Given the description of an element on the screen output the (x, y) to click on. 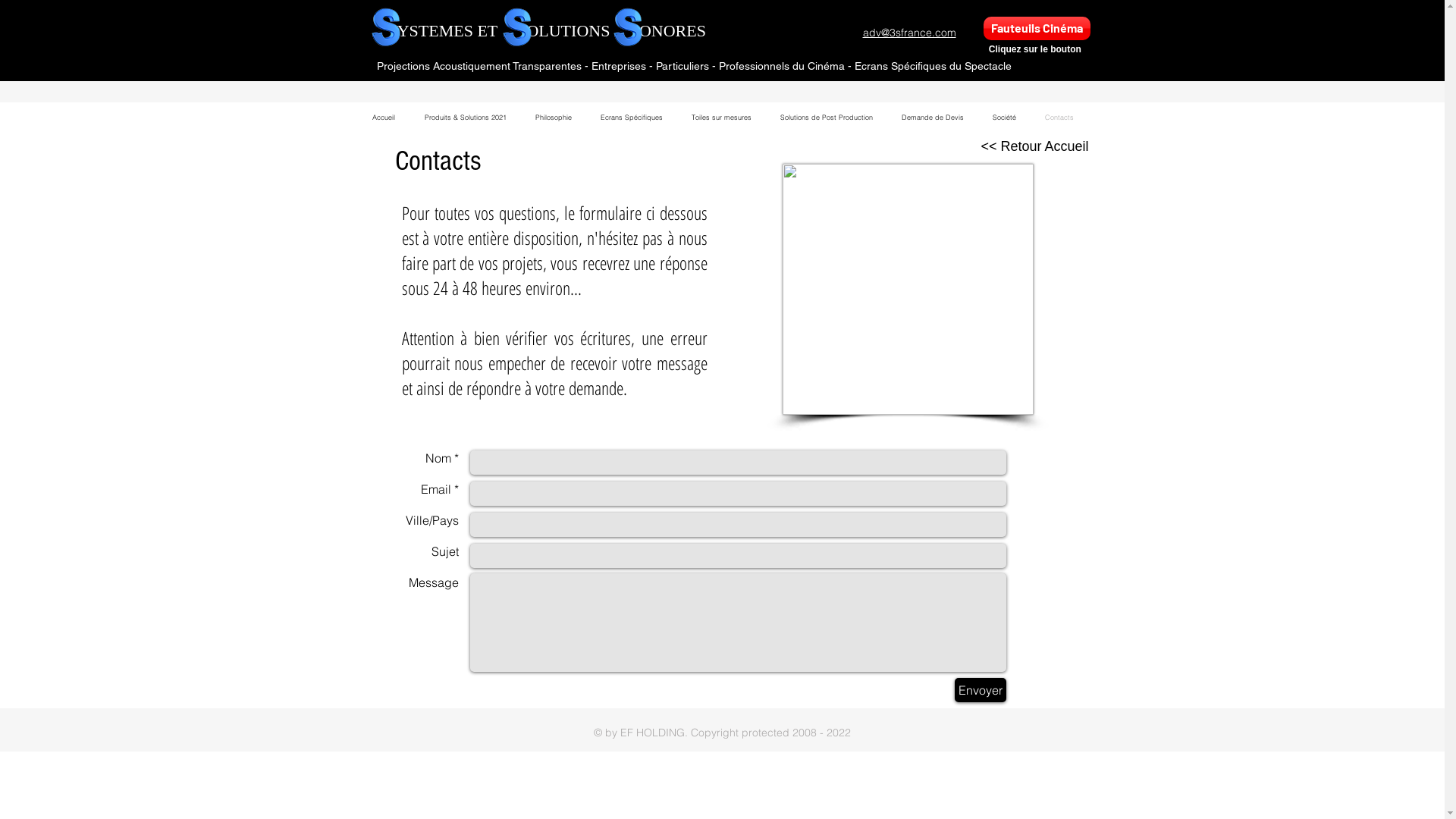
adv@3sfrance.com Element type: text (909, 32)
Toiles sur mesures Element type: text (720, 117)
Solutions de Post Production Element type: text (826, 117)
Philosophie Element type: text (552, 117)
<< Retour Accueil Element type: text (1034, 146)
Produits & Solutions 2021 Element type: text (464, 117)
Demande de Devis Element type: text (932, 117)
Accueil Element type: text (383, 117)
Settings-Sounds-icon.png Element type: hover (907, 288)
Contacts Element type: text (1058, 117)
  YSTEMES ET       OLUTIONS       ONORES Element type: text (547, 30)
Envoyer Element type: text (979, 689)
